Given the description of an element on the screen output the (x, y) to click on. 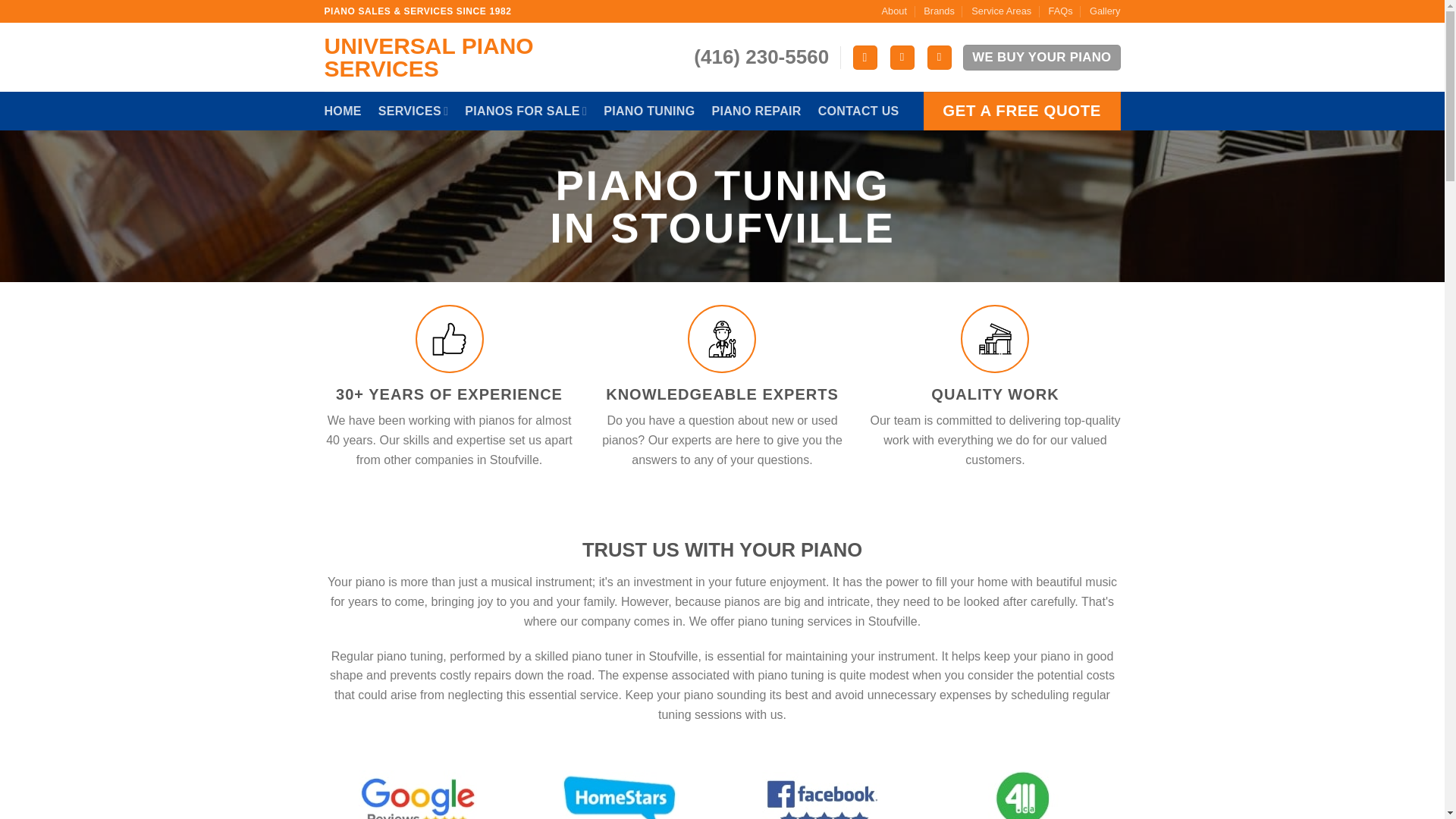
HOME (342, 111)
Cart (939, 57)
About (892, 11)
Service Areas (1000, 11)
SERVICES (413, 111)
FAQs (1060, 11)
Universal Piano Services - Used Pianos and Piano Services (484, 57)
WE BUY YOUR PIANO (1040, 57)
Gallery (1105, 11)
PIANOS FOR SALE (525, 111)
Brands (939, 11)
UNIVERSAL PIANO SERVICES (484, 57)
